Given the description of an element on the screen output the (x, y) to click on. 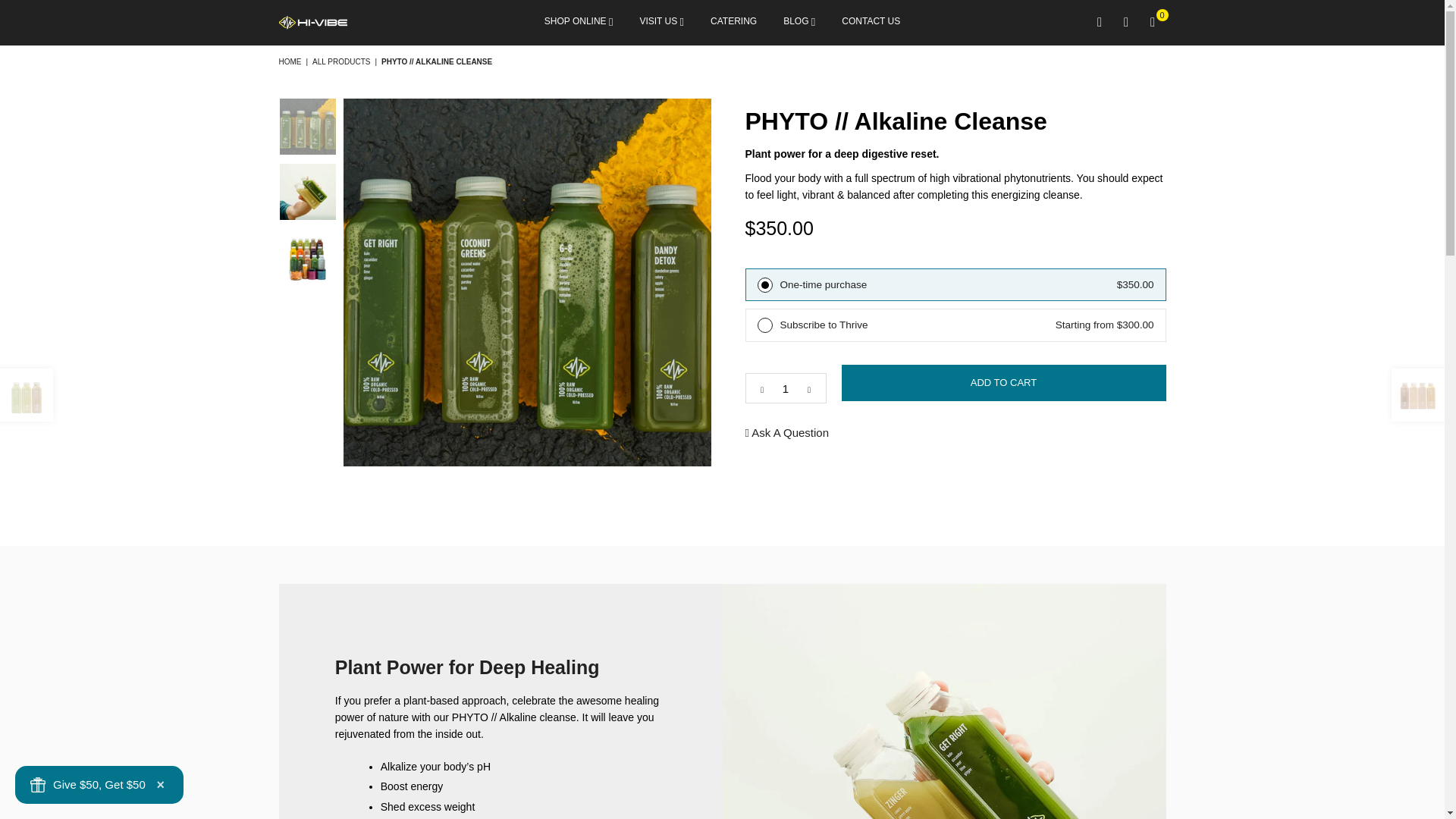
BLOG (799, 22)
1 (784, 387)
CATERING (733, 22)
Back to the home page (291, 61)
ACCOUNT (1126, 22)
bb5d204746f6b82e9be362e71b65ac99fe2ee71b (764, 324)
SEARCH (1099, 22)
0 (1152, 22)
HI-VIBE SUPERFOOD JUICERY (351, 22)
SHOP ONLINE (578, 22)
